Given the description of an element on the screen output the (x, y) to click on. 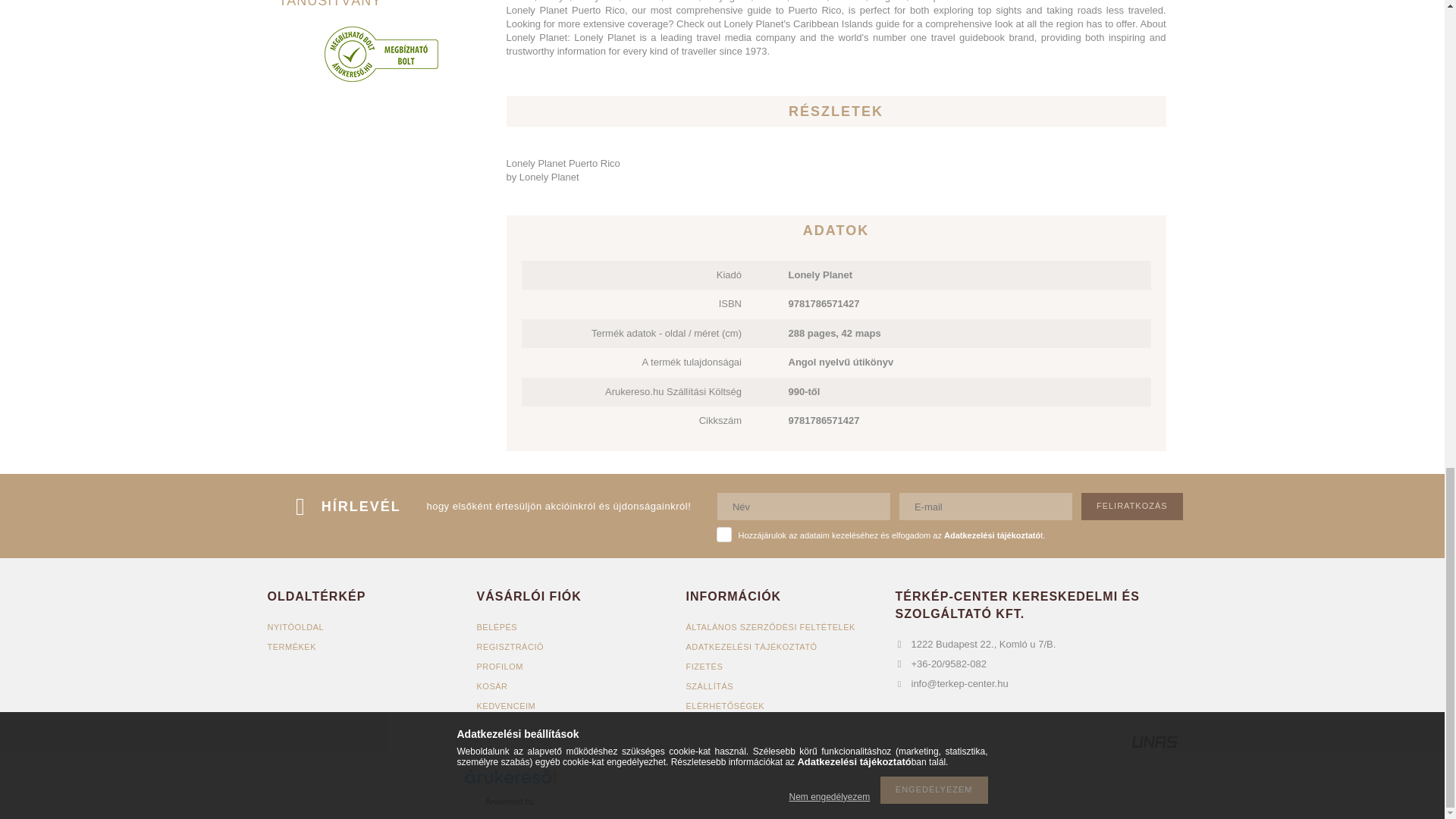
1 (723, 534)
argep.hu (620, 789)
aprohirdetesingyen.hu (832, 789)
olcsobbat.hu (726, 789)
